Given the description of an element on the screen output the (x, y) to click on. 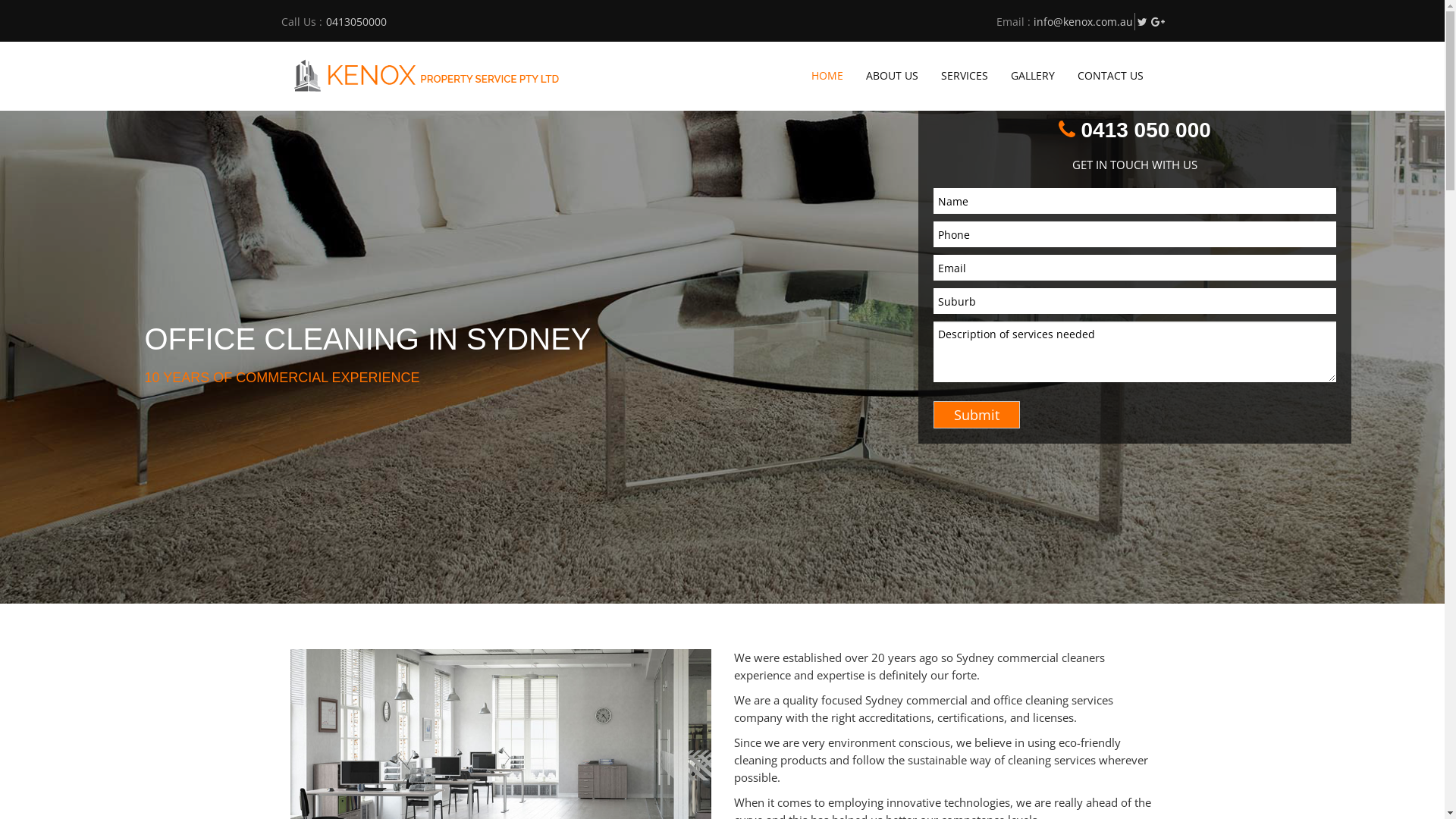
Submit Element type: text (975, 414)
Commercial cleaning in Sydney Element type: hover (425, 75)
CONTACT US Element type: text (1110, 75)
SERVICES Element type: text (964, 75)
HOME Element type: text (826, 75)
GALLERY Element type: text (1032, 75)
ABOUT US Element type: text (890, 75)
info@kenox.com.au Element type: text (1080, 21)
0413 050 000 Element type: text (1134, 129)
0413050000 Element type: text (356, 21)
